Given the description of an element on the screen output the (x, y) to click on. 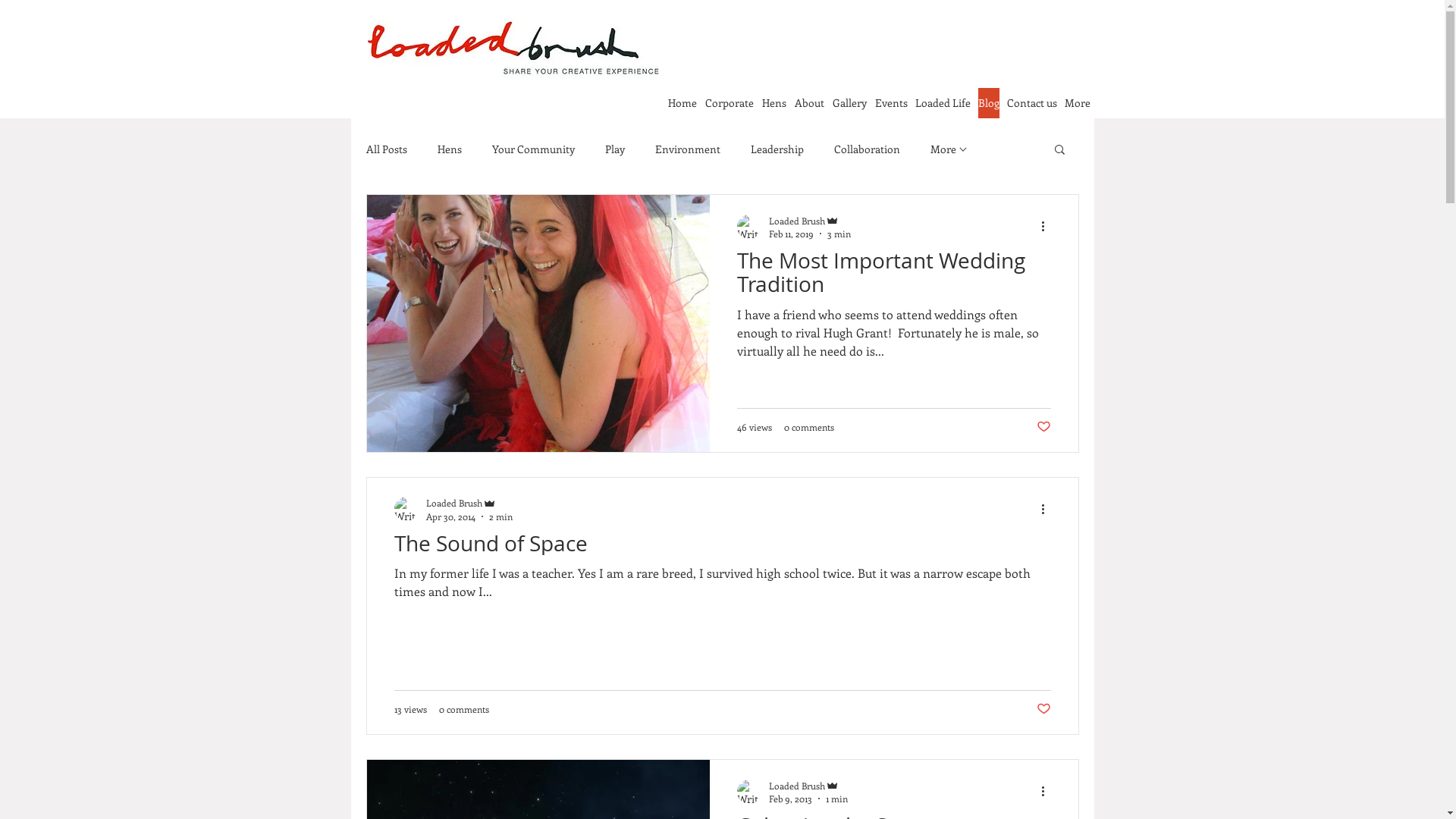
About Element type: text (809, 102)
Home Element type: text (681, 102)
Blog Element type: text (988, 102)
0 comments Element type: text (463, 708)
The Most Important Wedding Tradition Element type: text (894, 276)
Contact us Element type: text (1032, 102)
Environment Element type: text (687, 148)
Play Element type: text (614, 148)
Collaboration Element type: text (867, 148)
Hens Element type: text (448, 148)
Loaded Brush Element type: text (809, 220)
Leadership Element type: text (776, 148)
Loaded Life Element type: text (941, 102)
All Posts Element type: text (385, 148)
The Sound of Space Element type: text (722, 547)
Corporate Element type: text (729, 102)
Loaded Brush Element type: text (469, 502)
Gallery Element type: text (849, 102)
Loaded Brush Element type: text (807, 785)
Your Community Element type: text (532, 148)
Post not marked as liked Element type: text (1042, 425)
Events Element type: text (891, 102)
Hens Element type: text (773, 102)
0 comments Element type: text (809, 426)
Post not marked as liked Element type: text (1042, 708)
